Given the description of an element on the screen output the (x, y) to click on. 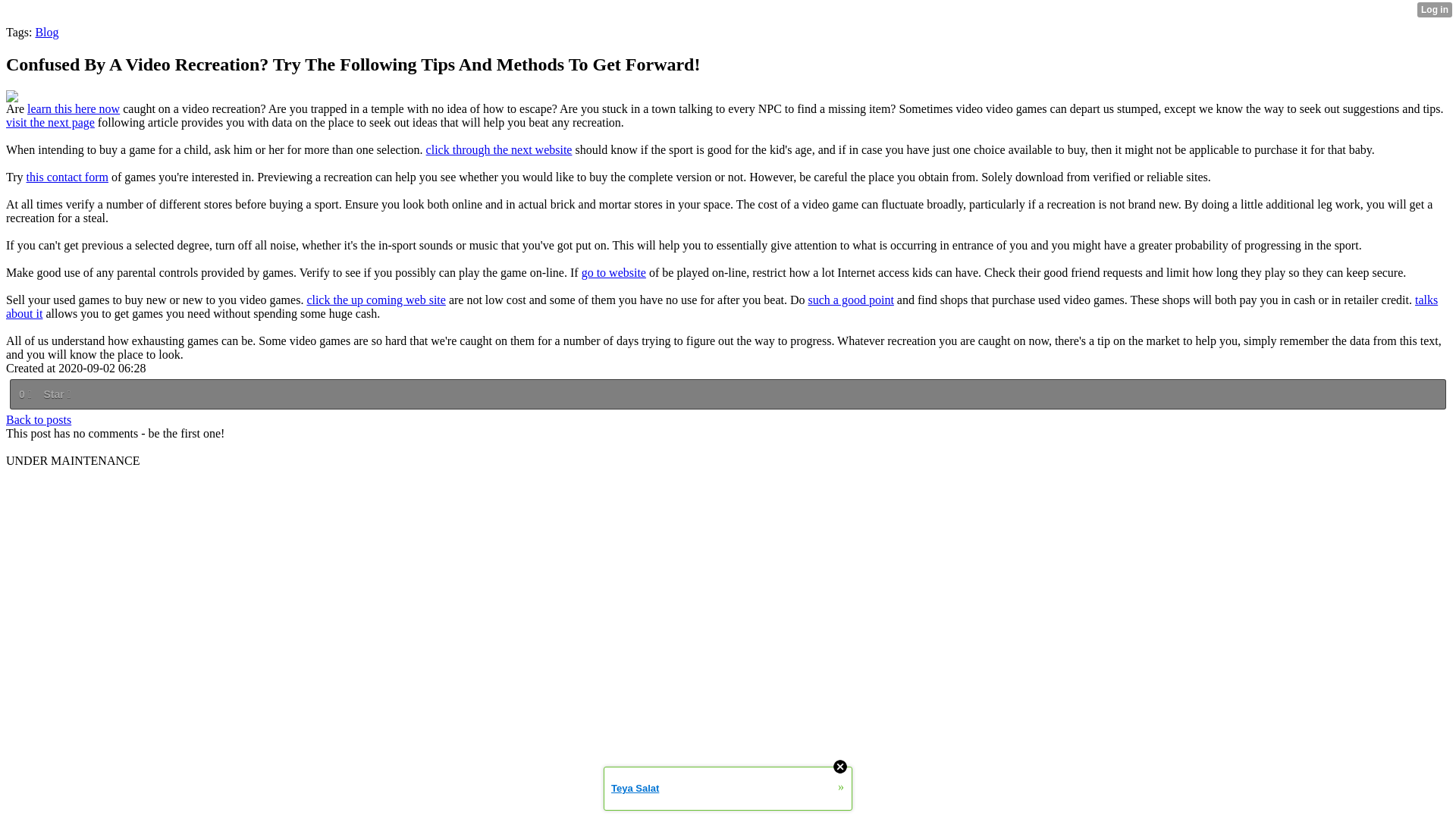
visit the next page (49, 122)
Star (56, 393)
learn this here now (73, 108)
click the up coming web site (375, 299)
click through the next website (499, 149)
talks about it (721, 306)
0 (24, 393)
such a good point (850, 299)
Blog (46, 31)
this contact form (66, 176)
go to website (613, 272)
Back to posts (38, 419)
